Given the description of an element on the screen output the (x, y) to click on. 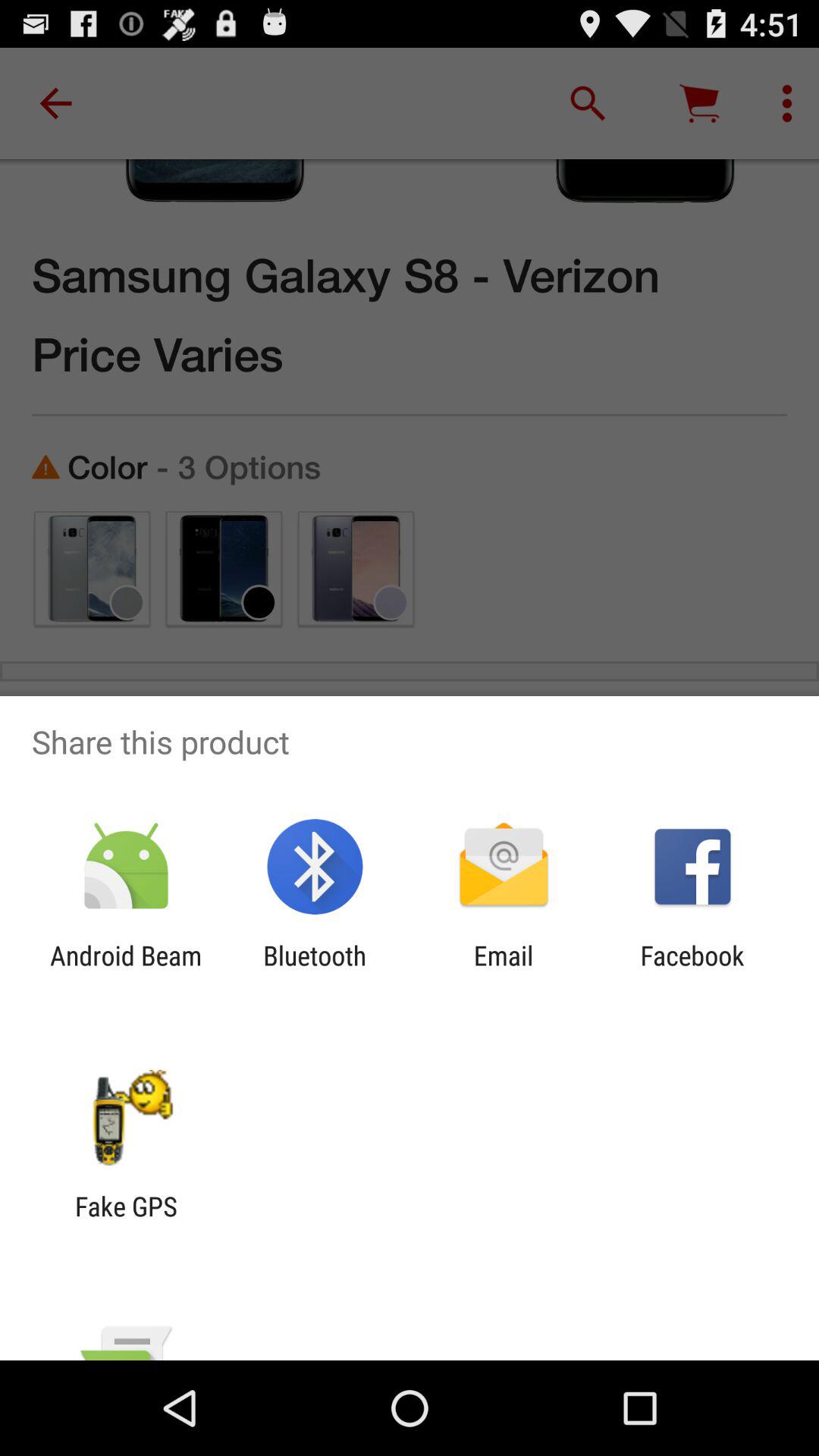
launch the app to the left of the email item (314, 971)
